Given the description of an element on the screen output the (x, y) to click on. 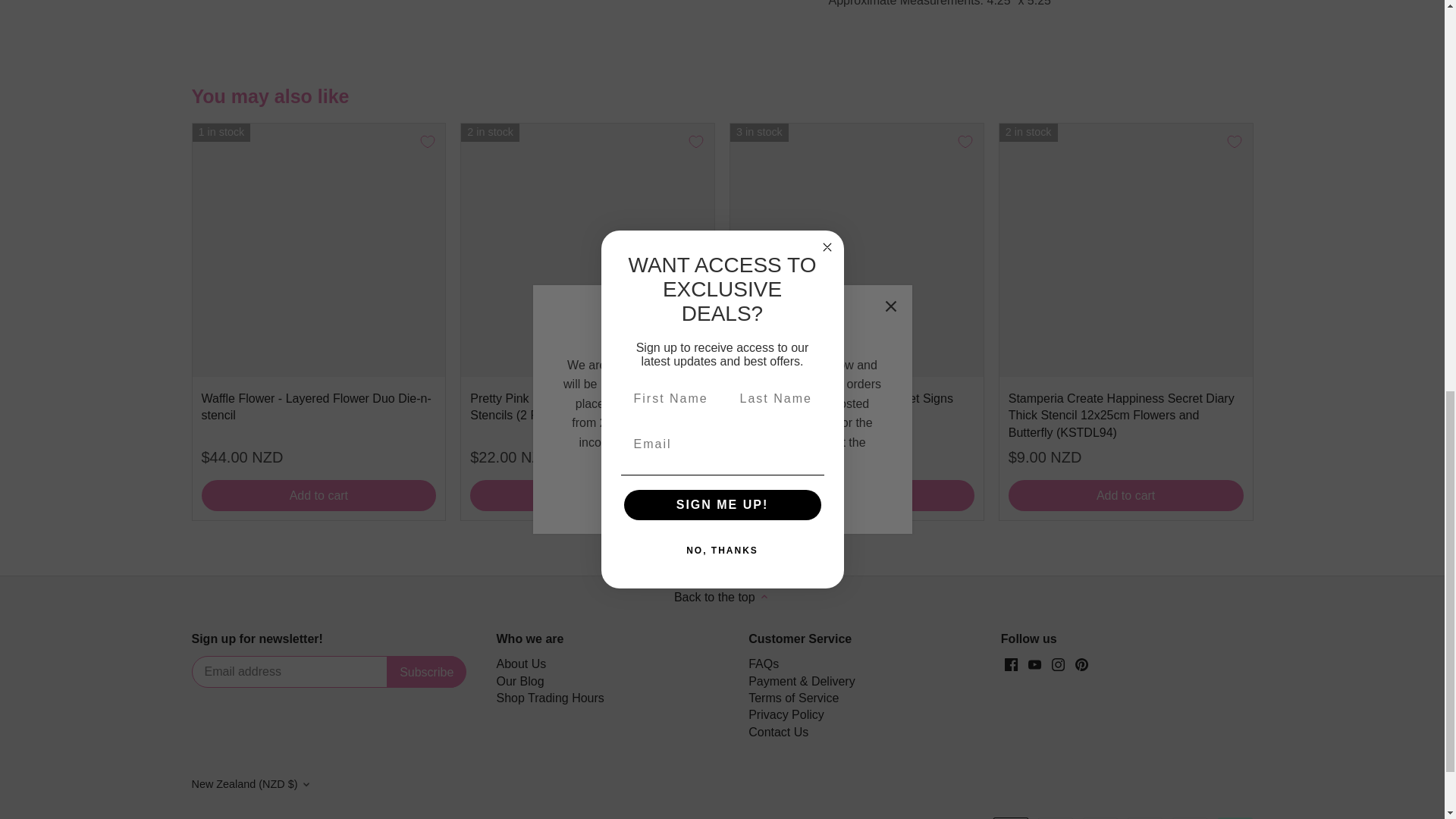
Facebook (1010, 664)
Subscribe (426, 671)
Instagram (1057, 664)
Youtube (1034, 664)
